Given the description of an element on the screen output the (x, y) to click on. 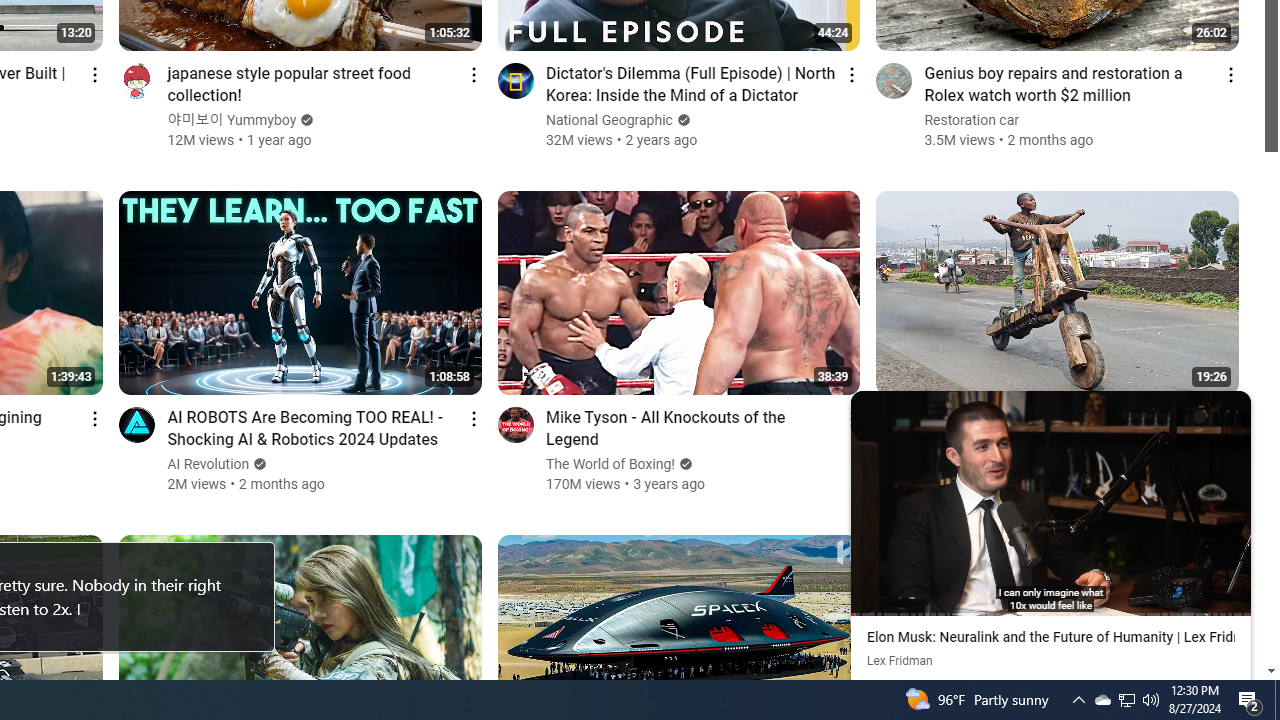
Seek slider (1050, 614)
Action menu (1229, 418)
Next (SHIFT+n) (1150, 501)
TEKNIQ (949, 442)
Expand (i) (870, 410)
Pause (k) (1050, 501)
National Geographic (609, 120)
